Given the description of an element on the screen output the (x, y) to click on. 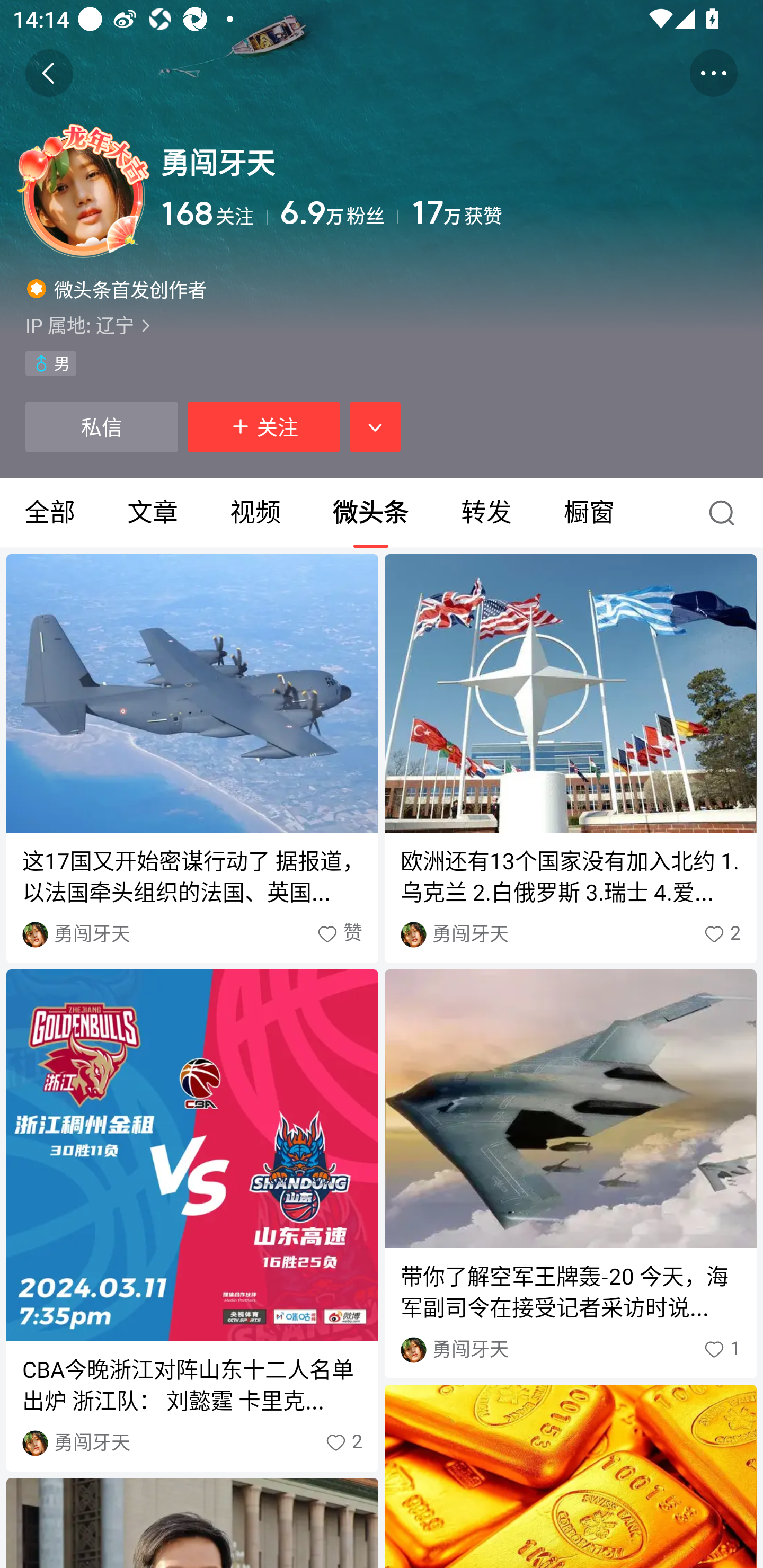
返回 (49, 72)
更多操作 (713, 72)
头像 (83, 191)
168 关注 (213, 213)
6.9万 粉丝 (339, 213)
17万 获赞 (574, 213)
微头条首发创作者 (116, 288)
IP 属地: 辽宁 (381, 325)
性别男 男 (50, 363)
私信 (101, 427)
     关注 (263, 427)
展开相关推荐，按钮 (374, 427)
全部 (50, 512)
文章 (152, 512)
视频 (254, 512)
微头条 (370, 512)
转发 (485, 512)
橱窗 (588, 512)
搜索 (726, 512)
